Given the description of an element on the screen output the (x, y) to click on. 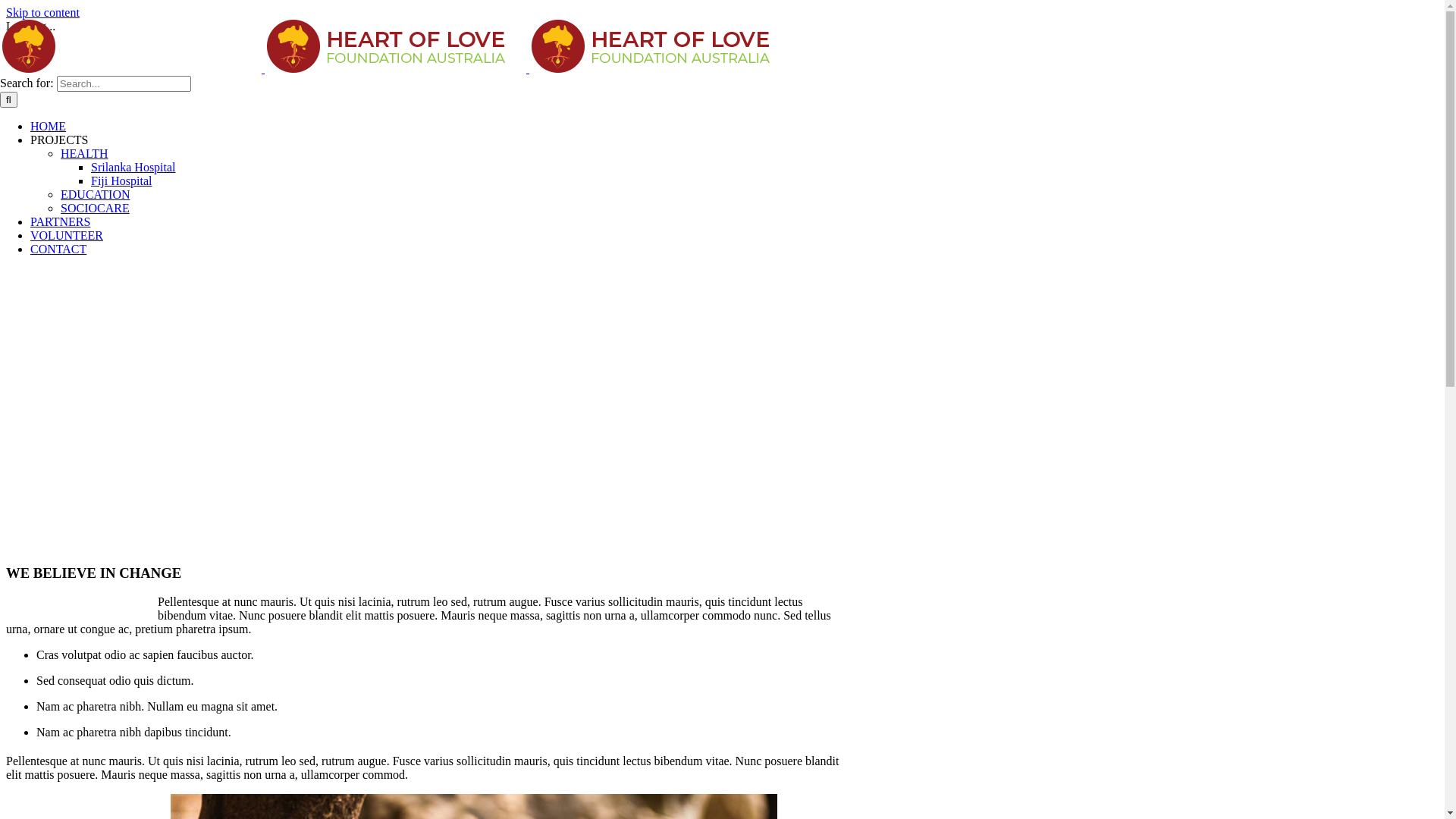
SOCIOCARE Element type: text (94, 207)
EDUCATION Element type: text (95, 194)
Fiji Hospital Element type: text (121, 180)
Skip to content Element type: text (42, 12)
CONTACT Element type: text (58, 248)
PARTNERS Element type: text (60, 221)
Srilanka Hospital Element type: text (133, 166)
PROJECTS Element type: text (58, 139)
HOME Element type: text (47, 125)
HEALTH Element type: text (84, 153)
VOLUNTEER Element type: text (66, 235)
